Given the description of an element on the screen output the (x, y) to click on. 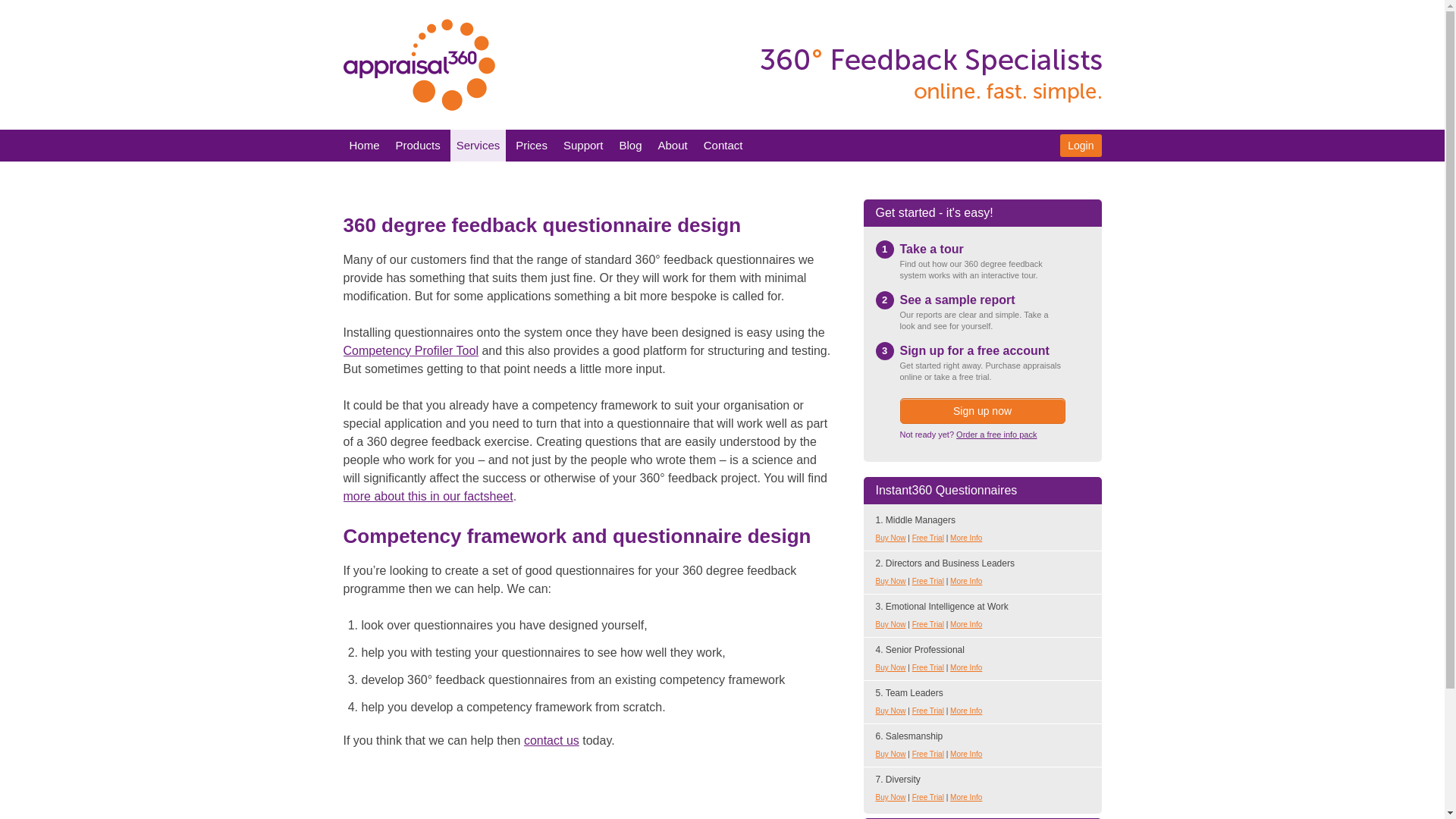
Designing 360 degree feedback questionnaires (427, 495)
360 degree feedback specialists (930, 51)
Appraisal 360 (418, 64)
Build Bespoke Questionnaires (409, 350)
